Given the description of an element on the screen output the (x, y) to click on. 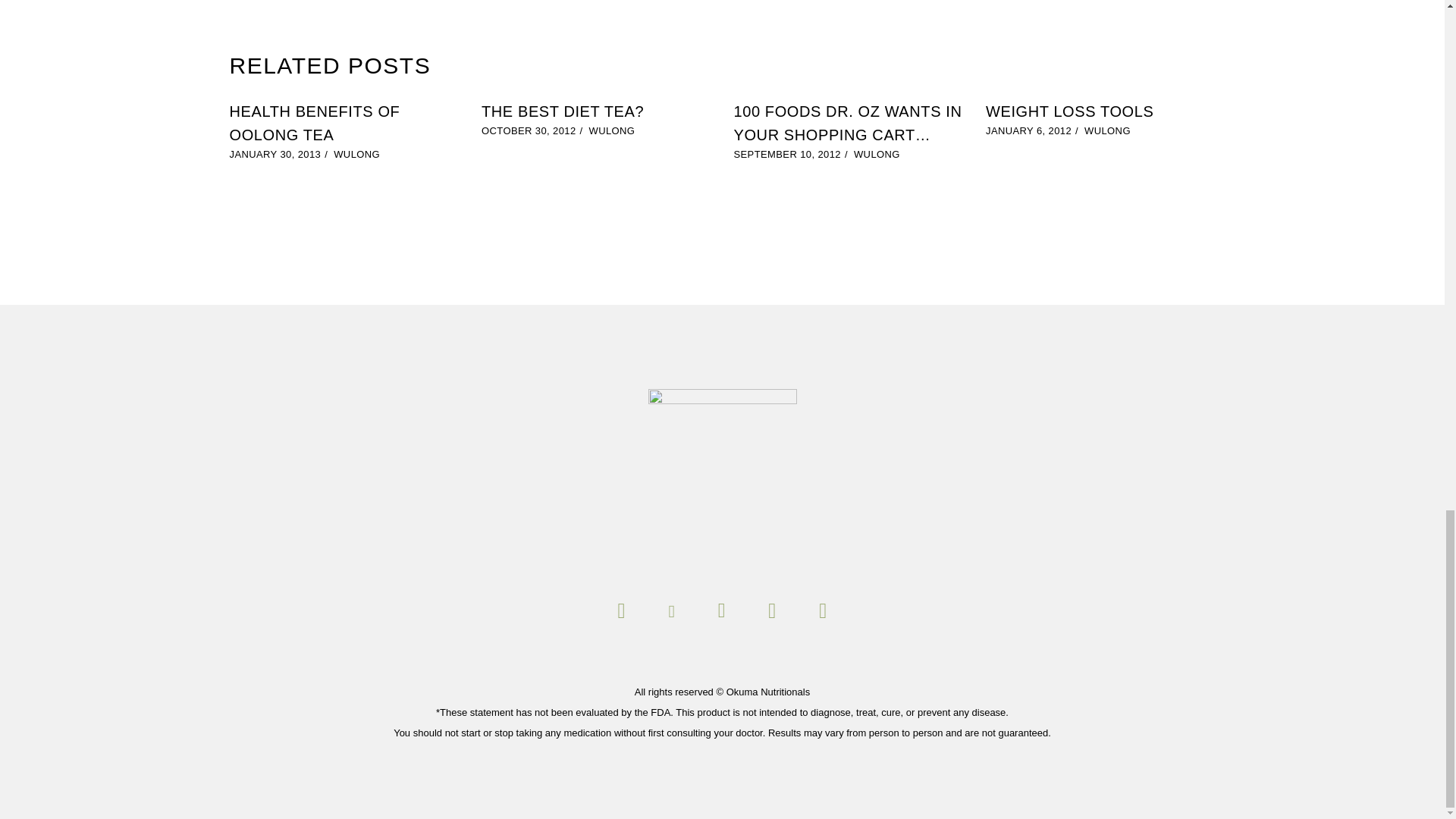
Weight Loss Tools (1069, 111)
Health Benefits of Oolong Tea (313, 123)
The Best Diet Tea? (562, 111)
